Given the description of an element on the screen output the (x, y) to click on. 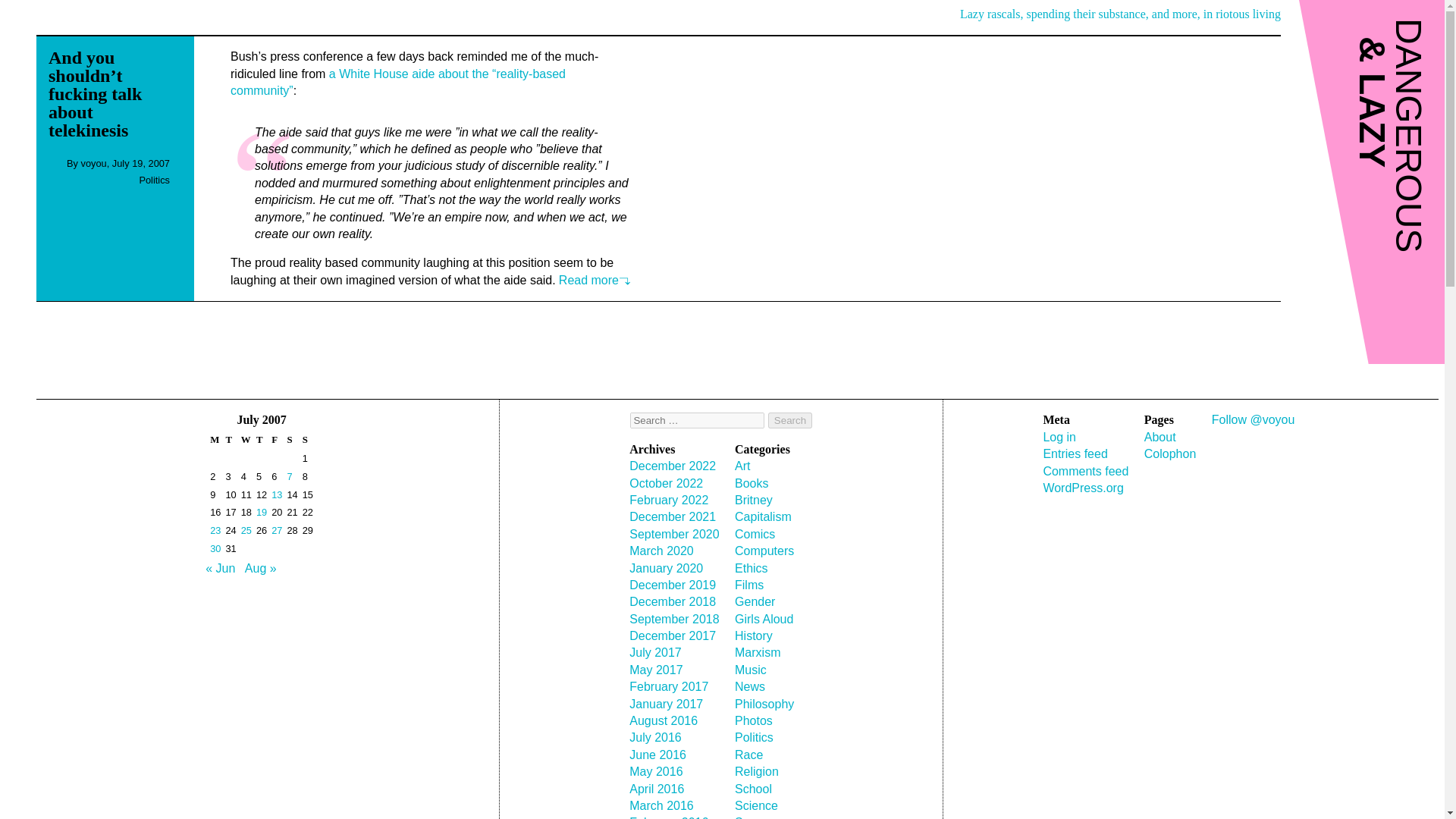
27 (276, 530)
March 2016 (661, 805)
April 2016 (656, 788)
December 2021 (672, 516)
August 2016 (662, 720)
23 (215, 530)
December 2018 (672, 601)
January 2020 (665, 567)
July 2017 (654, 652)
December 2019 (672, 584)
February 2016 (667, 817)
Search (790, 420)
Search (790, 420)
February 2022 (667, 499)
January 2017 (665, 703)
